Given the description of an element on the screen output the (x, y) to click on. 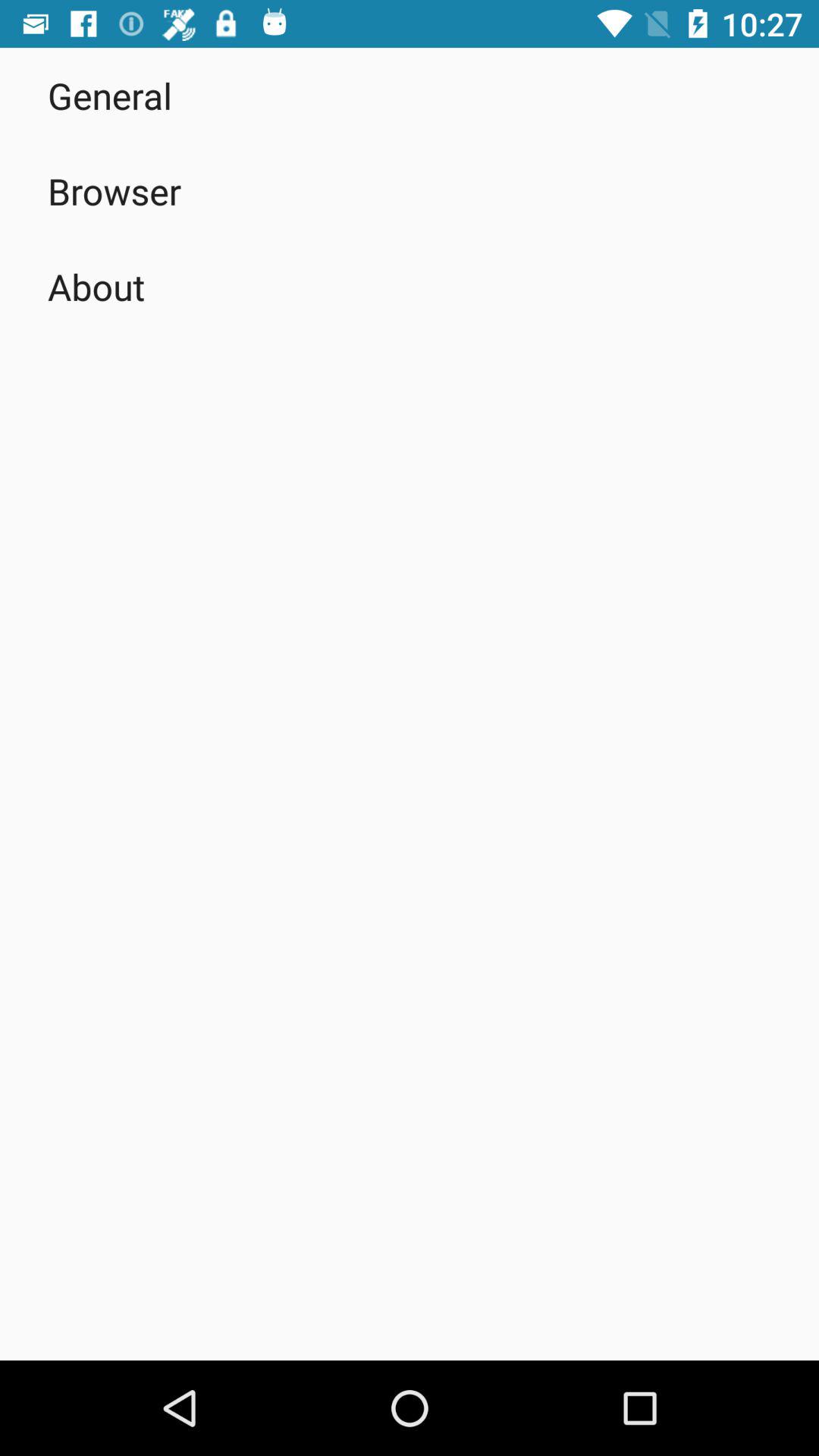
swipe until browser item (114, 190)
